Given the description of an element on the screen output the (x, y) to click on. 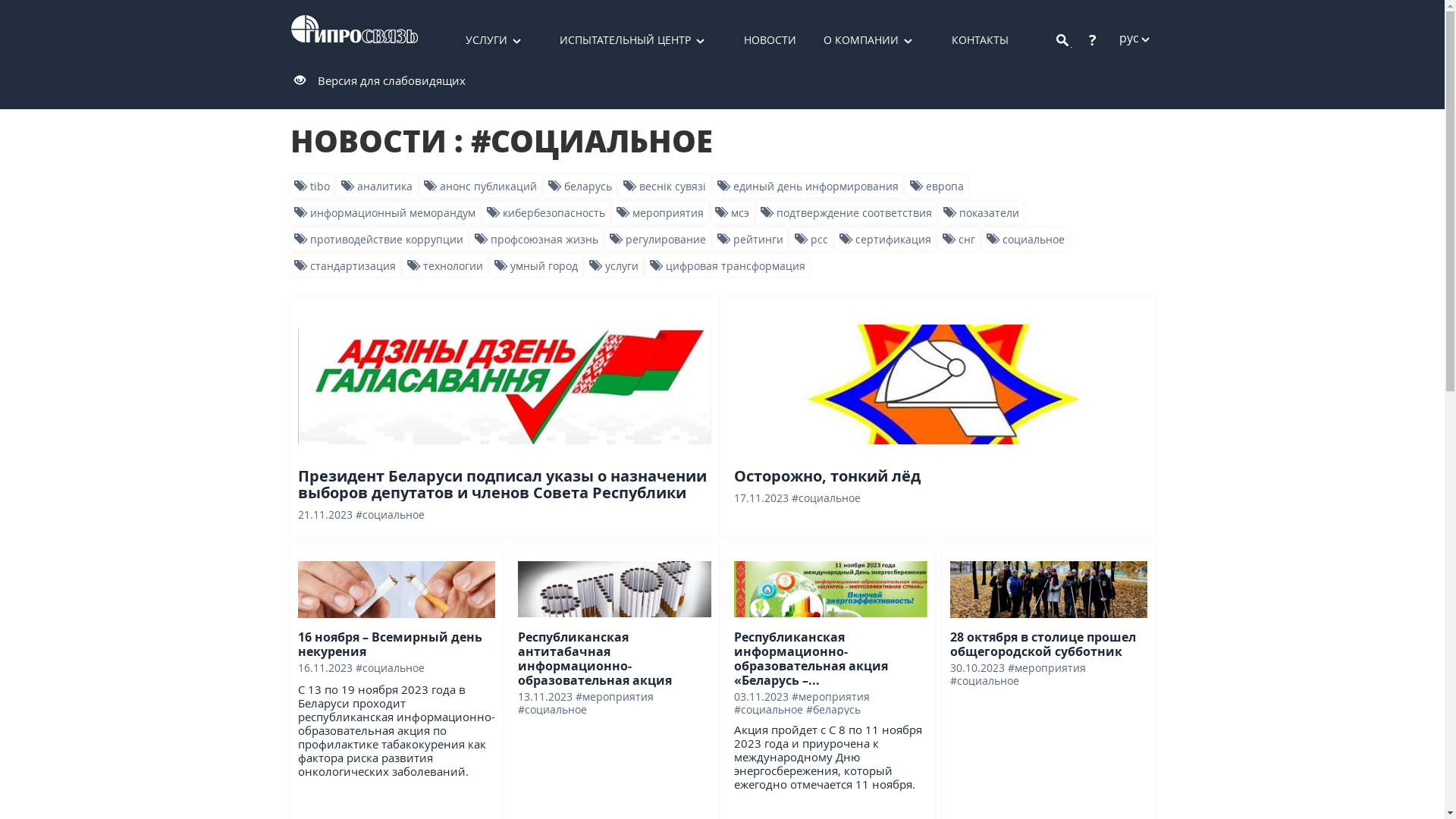
tibo Element type: text (310, 186)
? Element type: text (1092, 39)
